Given the description of an element on the screen output the (x, y) to click on. 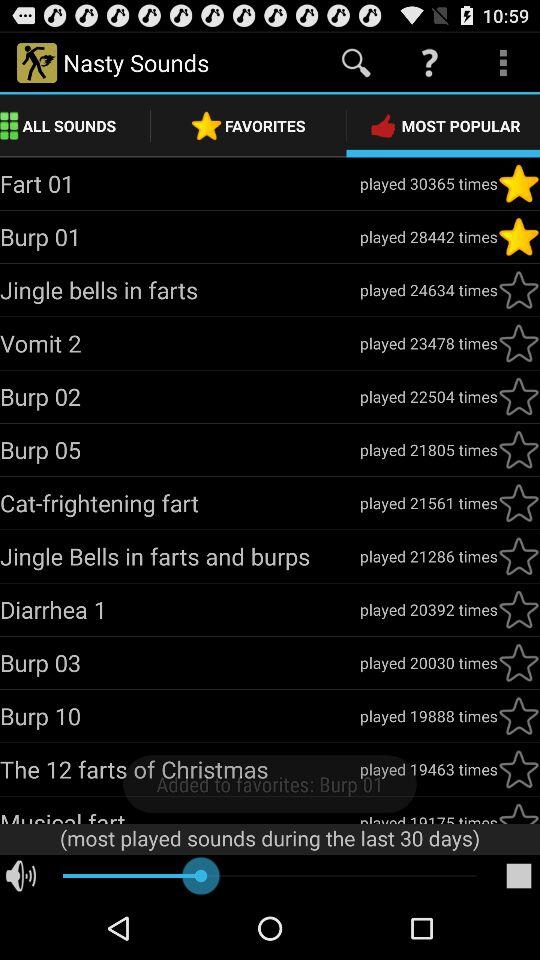
choose item next to played 20392 times (180, 609)
